Given the description of an element on the screen output the (x, y) to click on. 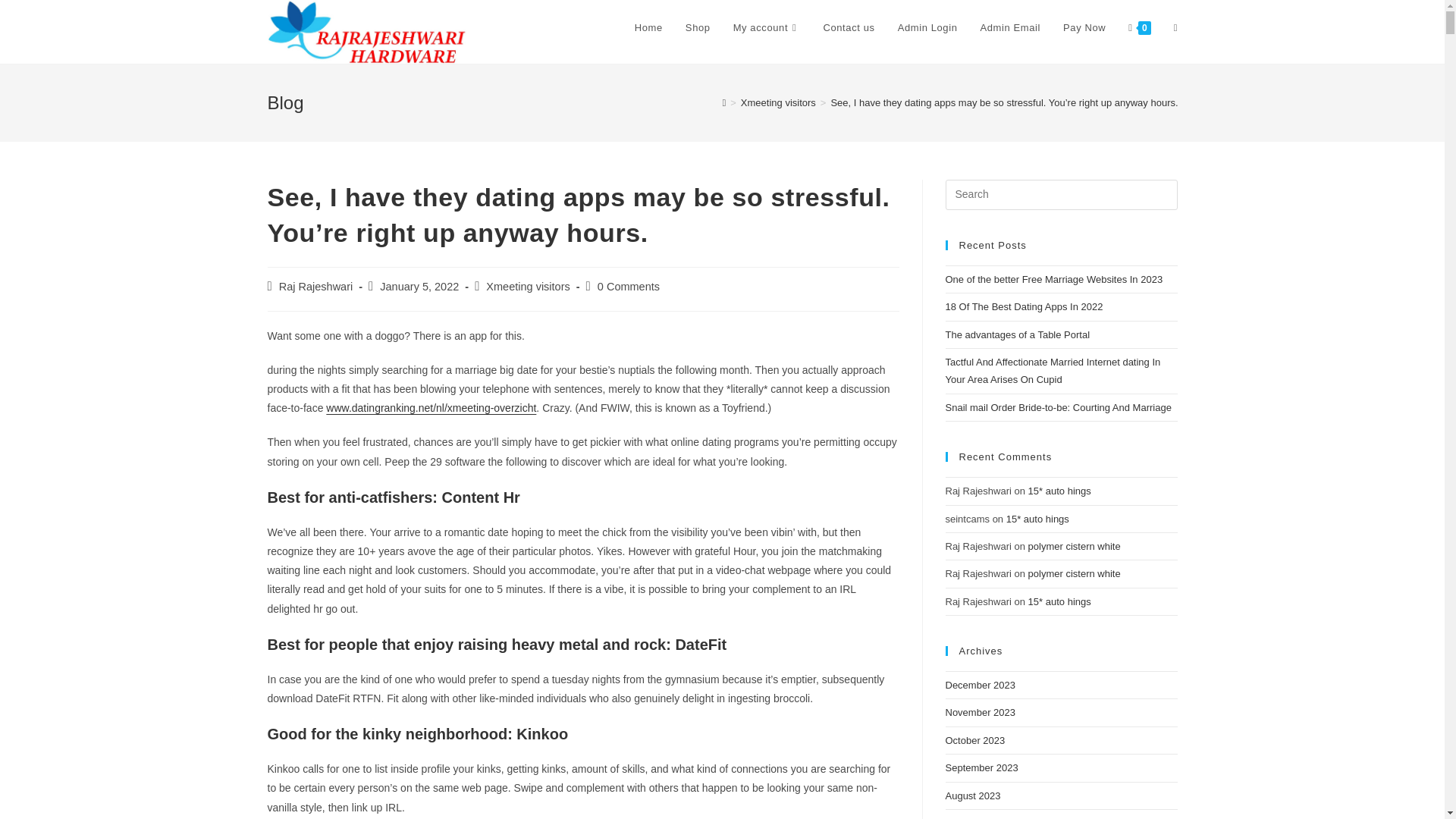
Admin Login (927, 28)
Contact us (847, 28)
Xmeeting visitors (778, 102)
Posts by Raj Rajeshwari (316, 286)
My account (767, 28)
0 Comments (627, 286)
Xmeeting visitors (527, 286)
Admin Email (1010, 28)
Home (648, 28)
Raj Rajeshwari (316, 286)
Pay Now (1083, 28)
